Given the description of an element on the screen output the (x, y) to click on. 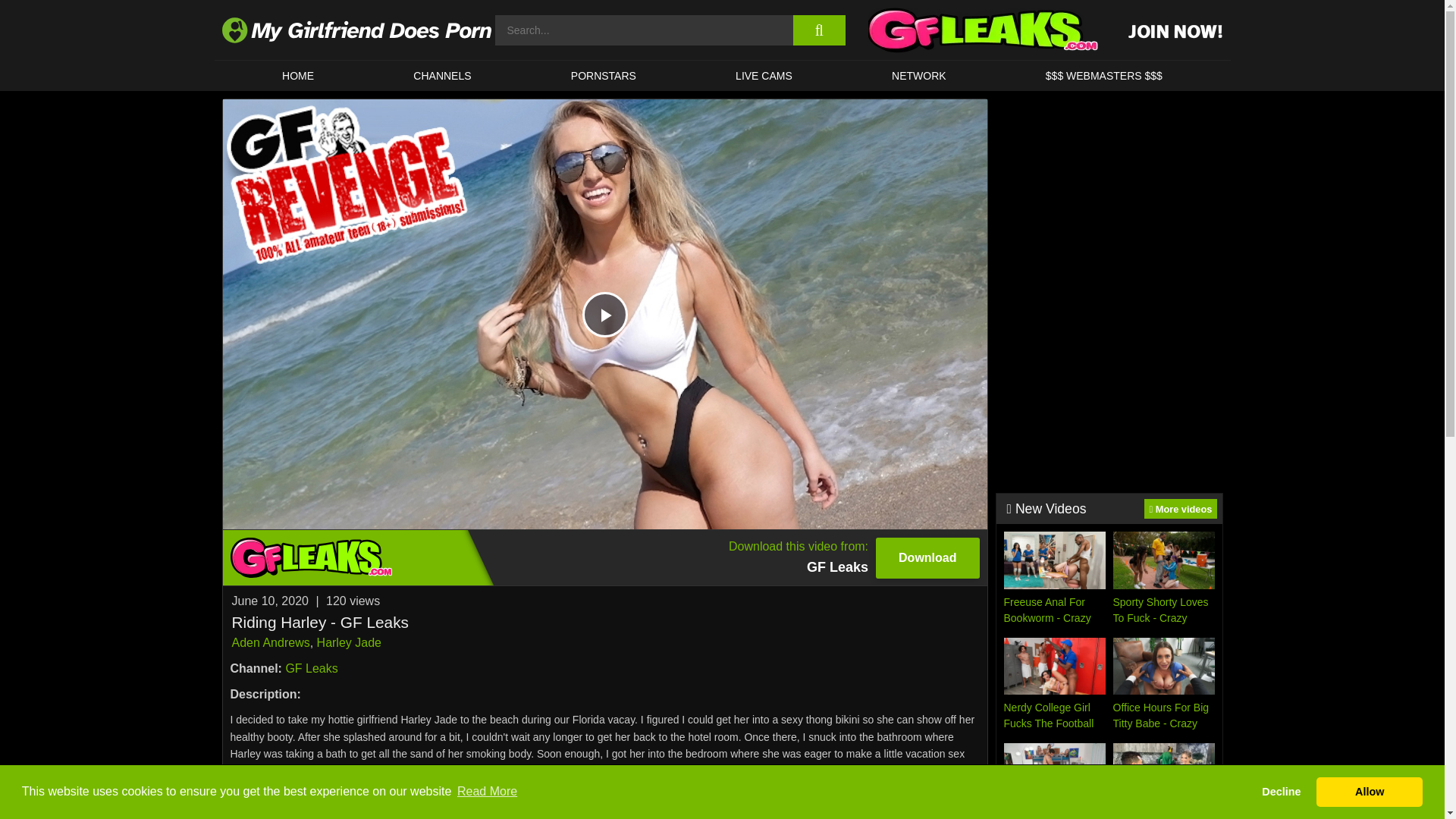
NETWORK (918, 75)
LIVE CAMS (604, 557)
Play Video (763, 75)
HOME (604, 313)
PORNSTARS (296, 75)
Aden Andrews (603, 75)
Play Video (270, 642)
CHANNELS (604, 313)
GF Leaks (442, 75)
Harley Jade (311, 667)
